Given the description of an element on the screen output the (x, y) to click on. 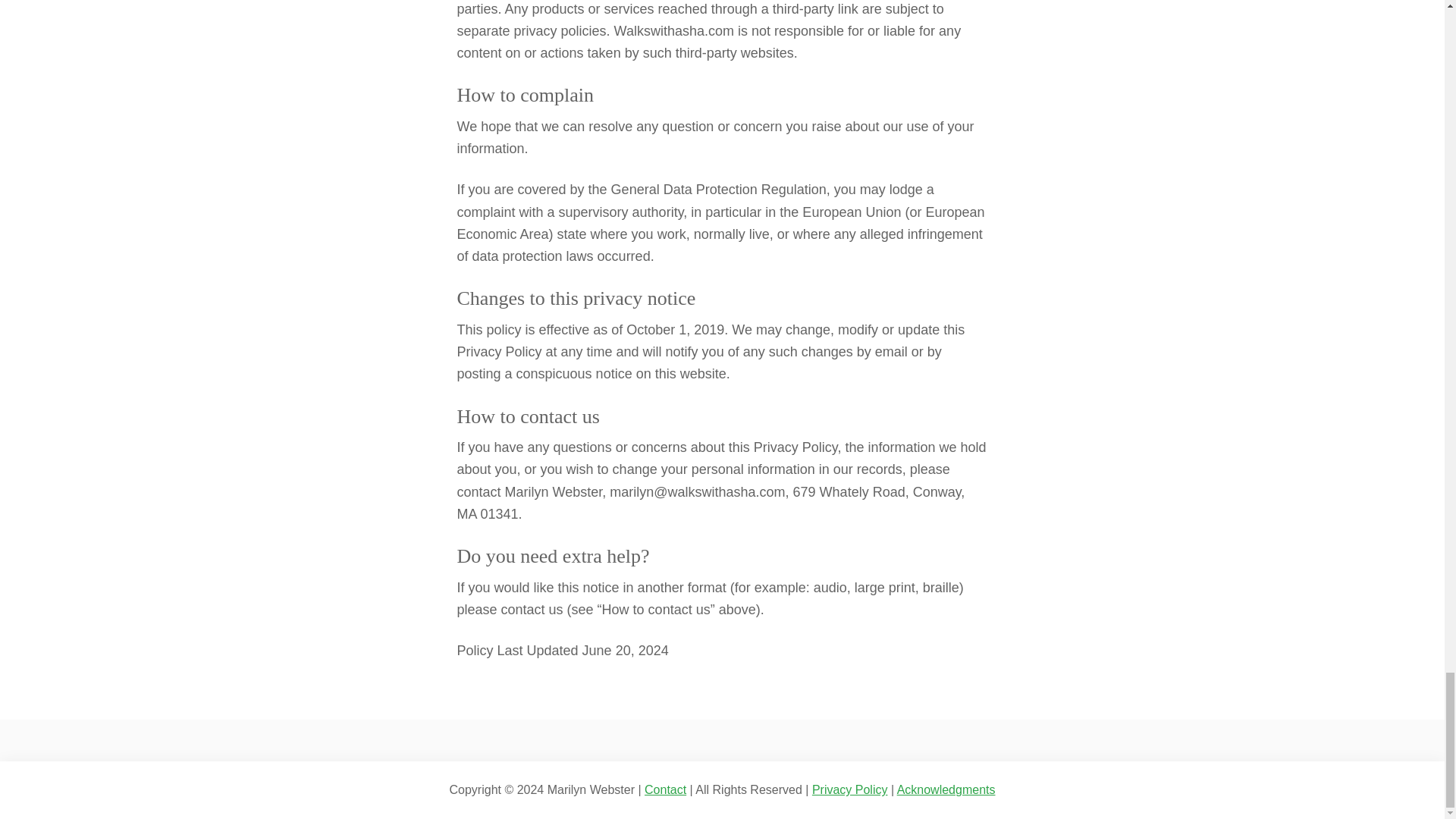
Contact (665, 789)
Privacy Policy (850, 789)
privacy (850, 789)
Acknowledgments (945, 789)
contact (665, 789)
acknowledgments (945, 789)
